Given the description of an element on the screen output the (x, y) to click on. 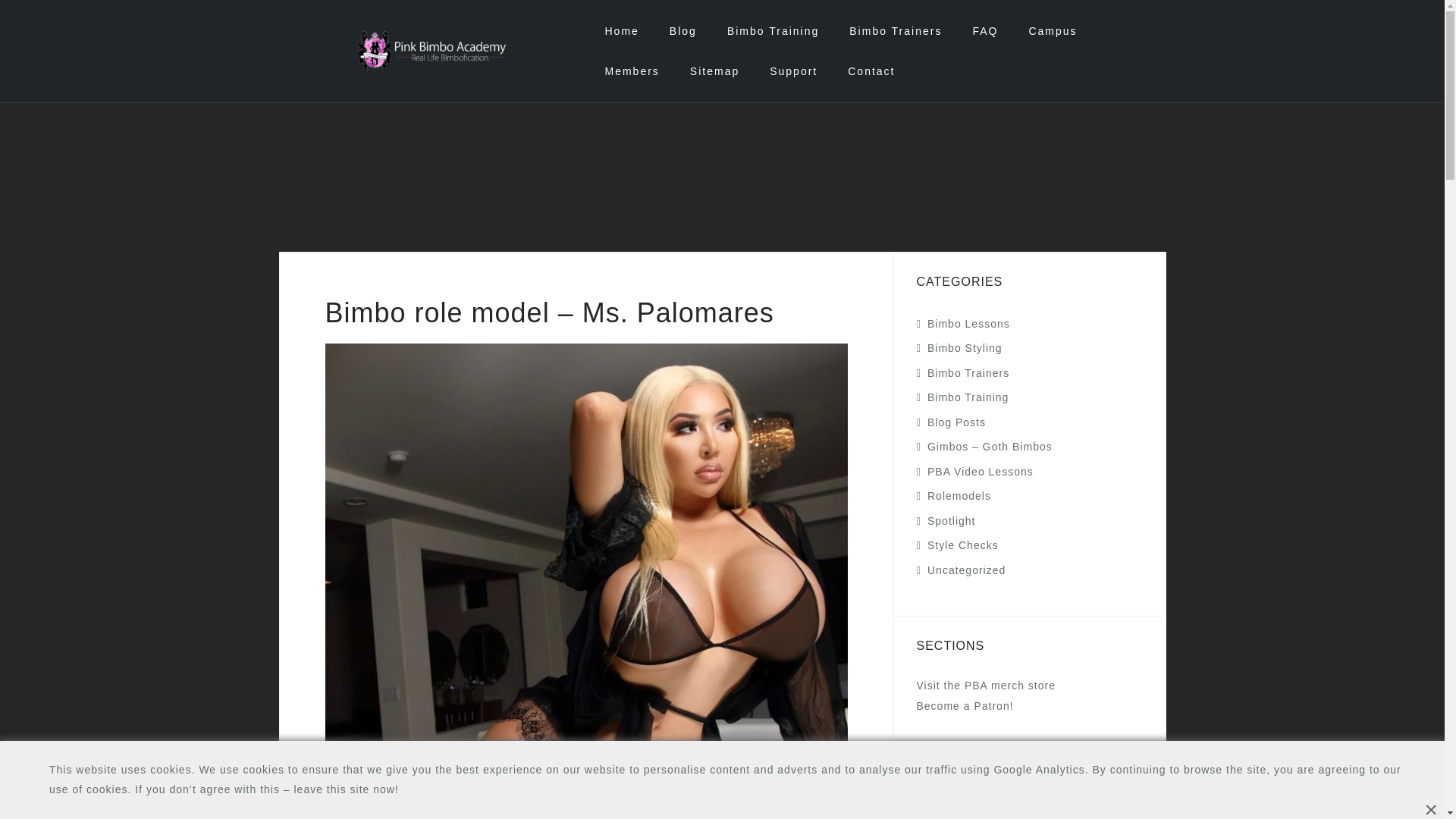
Home (621, 31)
Sitemap (714, 71)
Bimbo Trainers (895, 31)
Blog (683, 31)
Campus (1052, 31)
Contact (871, 71)
Bimbo Training (772, 31)
Support (793, 71)
FAQ (984, 31)
Members (631, 71)
